Given the description of an element on the screen output the (x, y) to click on. 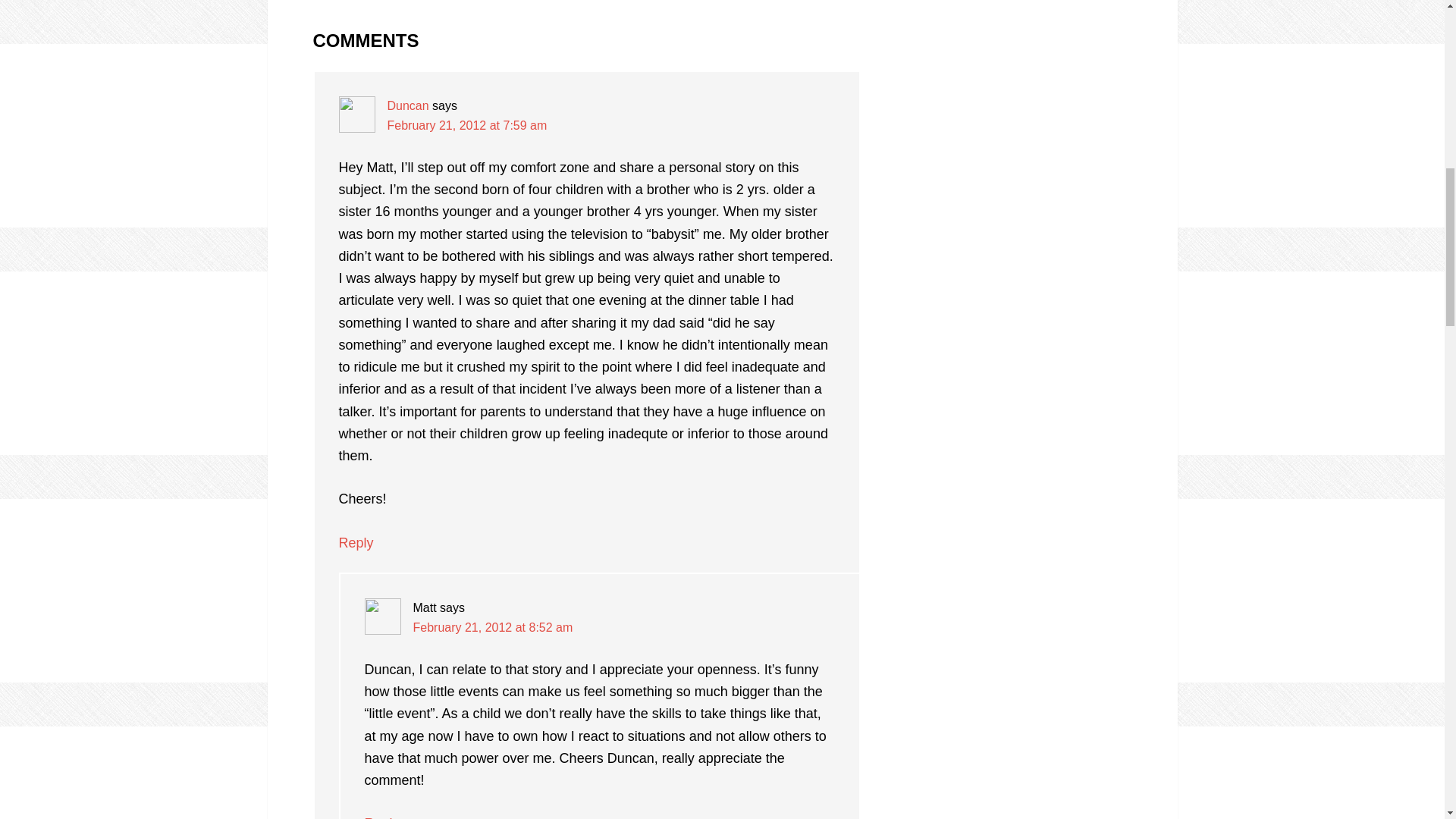
Reply (354, 542)
February 21, 2012 at 8:52 am (492, 626)
February 21, 2012 at 7:59 am (467, 124)
Duncan (407, 105)
Reply (381, 817)
